Given the description of an element on the screen output the (x, y) to click on. 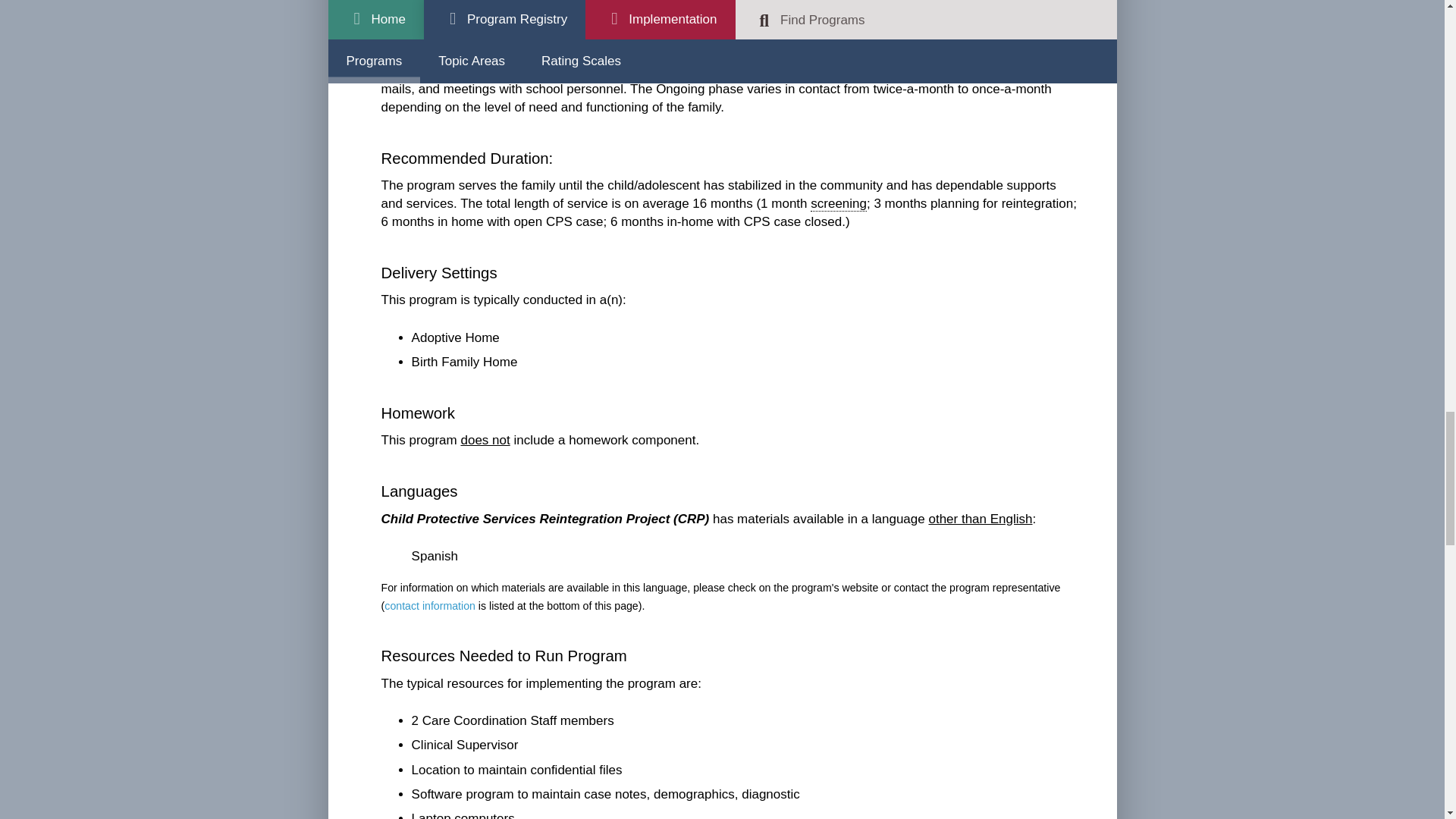
contact information (430, 605)
contact information (430, 605)
